Given the description of an element on the screen output the (x, y) to click on. 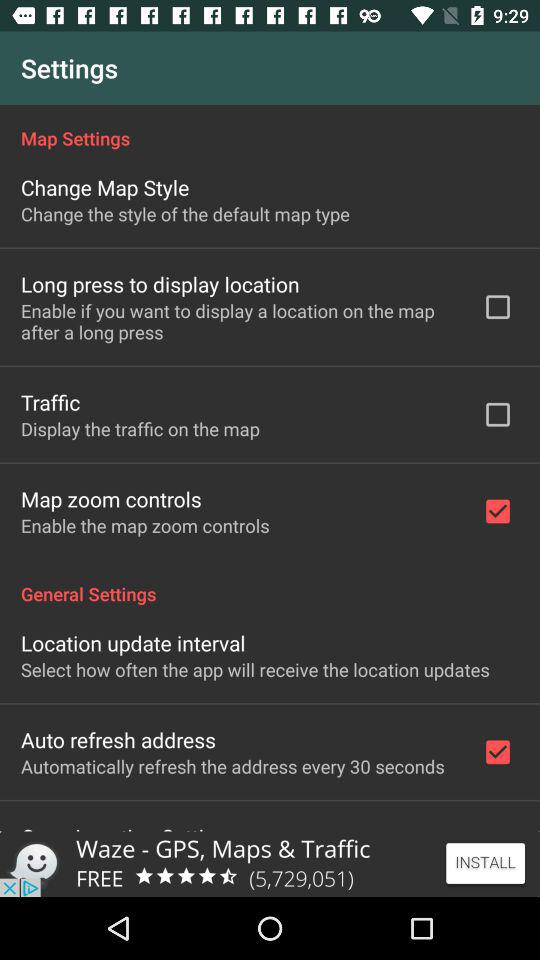
launch item above the location update interval item (270, 583)
